Given the description of an element on the screen output the (x, y) to click on. 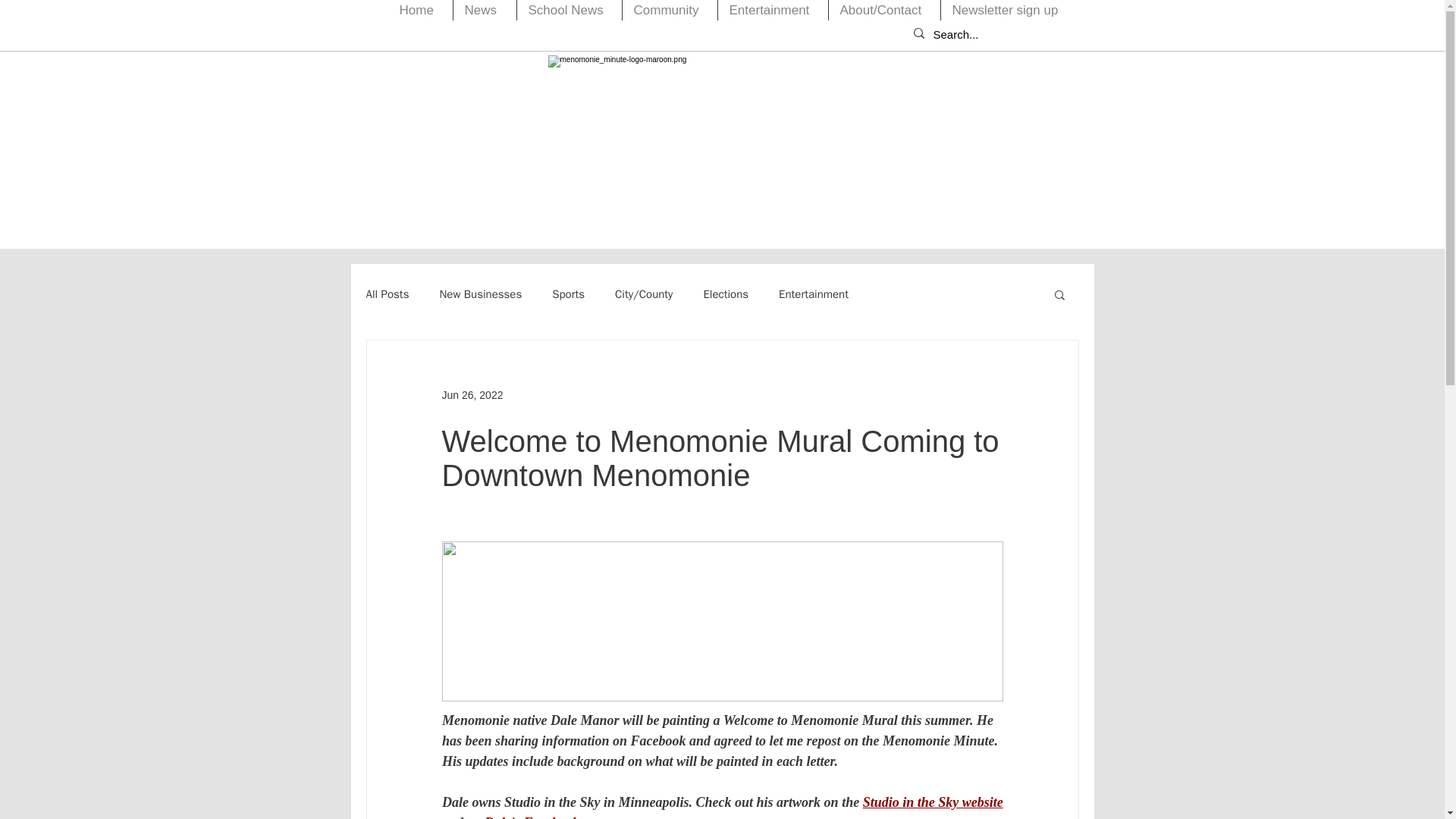
Dale's Facebook page. (547, 816)
Home (420, 10)
New Businesses (480, 293)
Elections (725, 293)
Studio in the Sky website (932, 801)
Sports (568, 293)
Newsletter sign up (1007, 10)
Jun 26, 2022 (471, 394)
Entertainment (813, 293)
All Posts (387, 293)
